Given the description of an element on the screen output the (x, y) to click on. 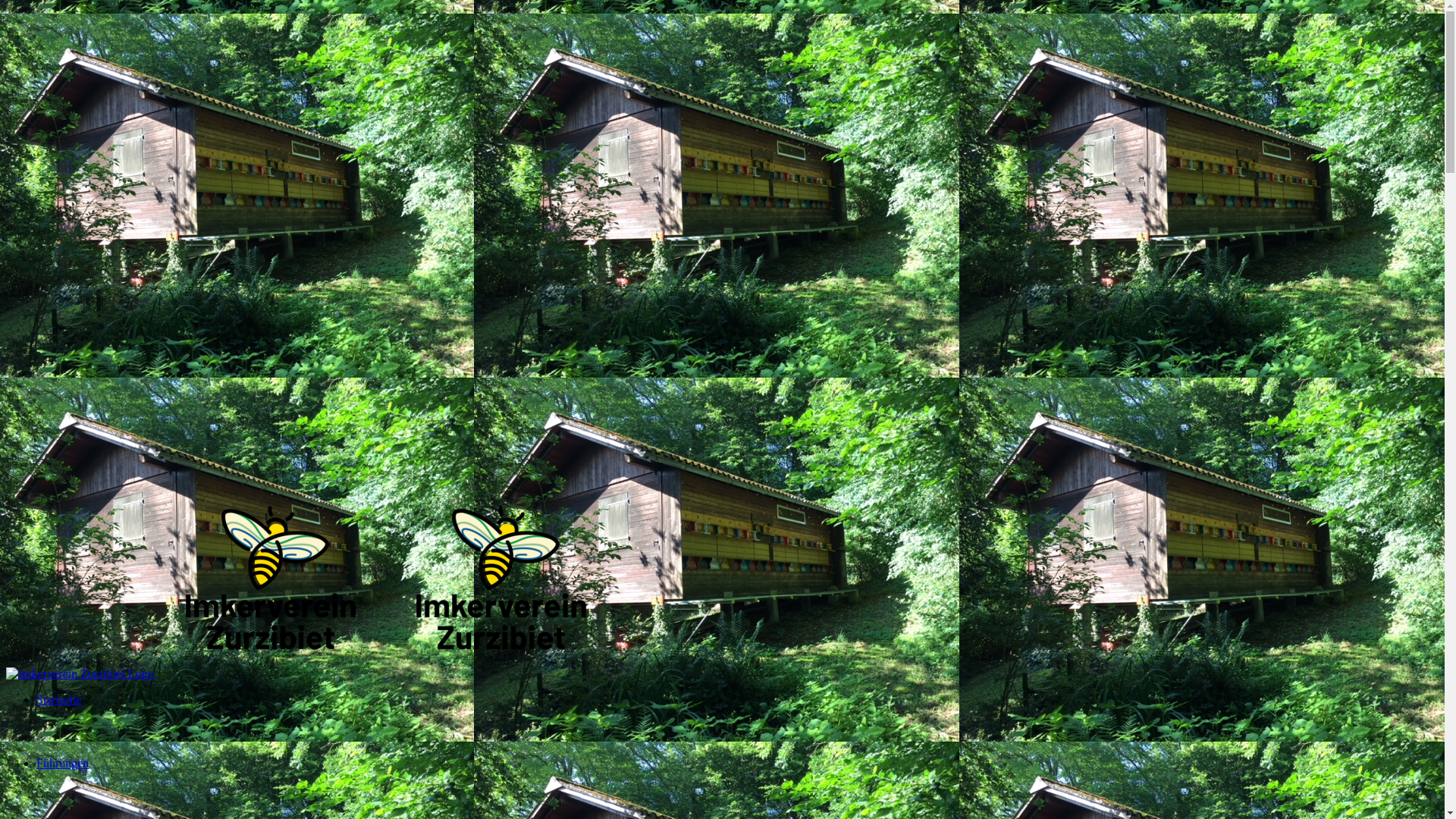
Startseite Element type: text (58, 724)
Zum Inhalt springen Element type: text (5, 5)
